Given the description of an element on the screen output the (x, y) to click on. 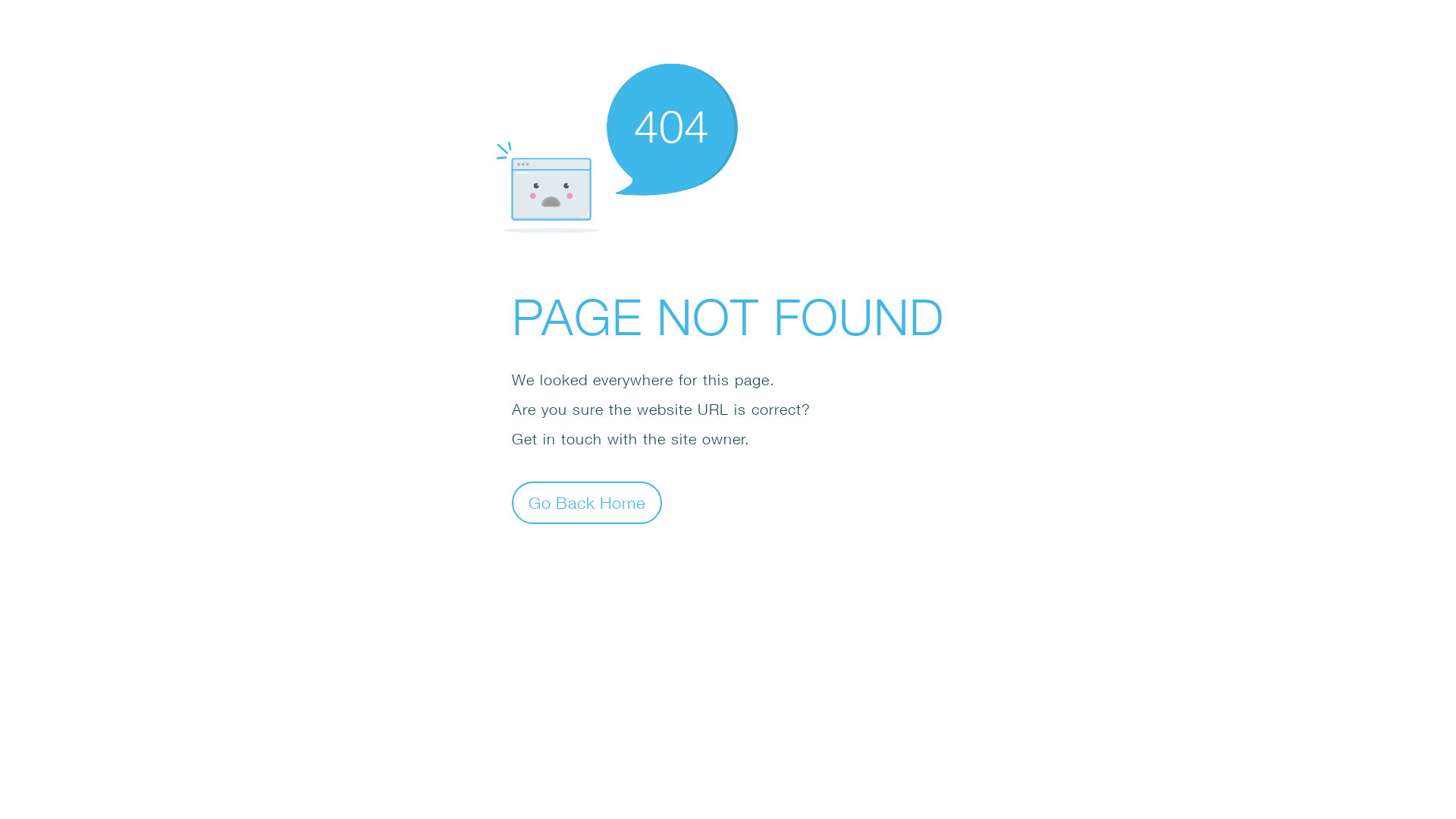
Go Back Home Element type: text (586, 502)
